Given the description of an element on the screen output the (x, y) to click on. 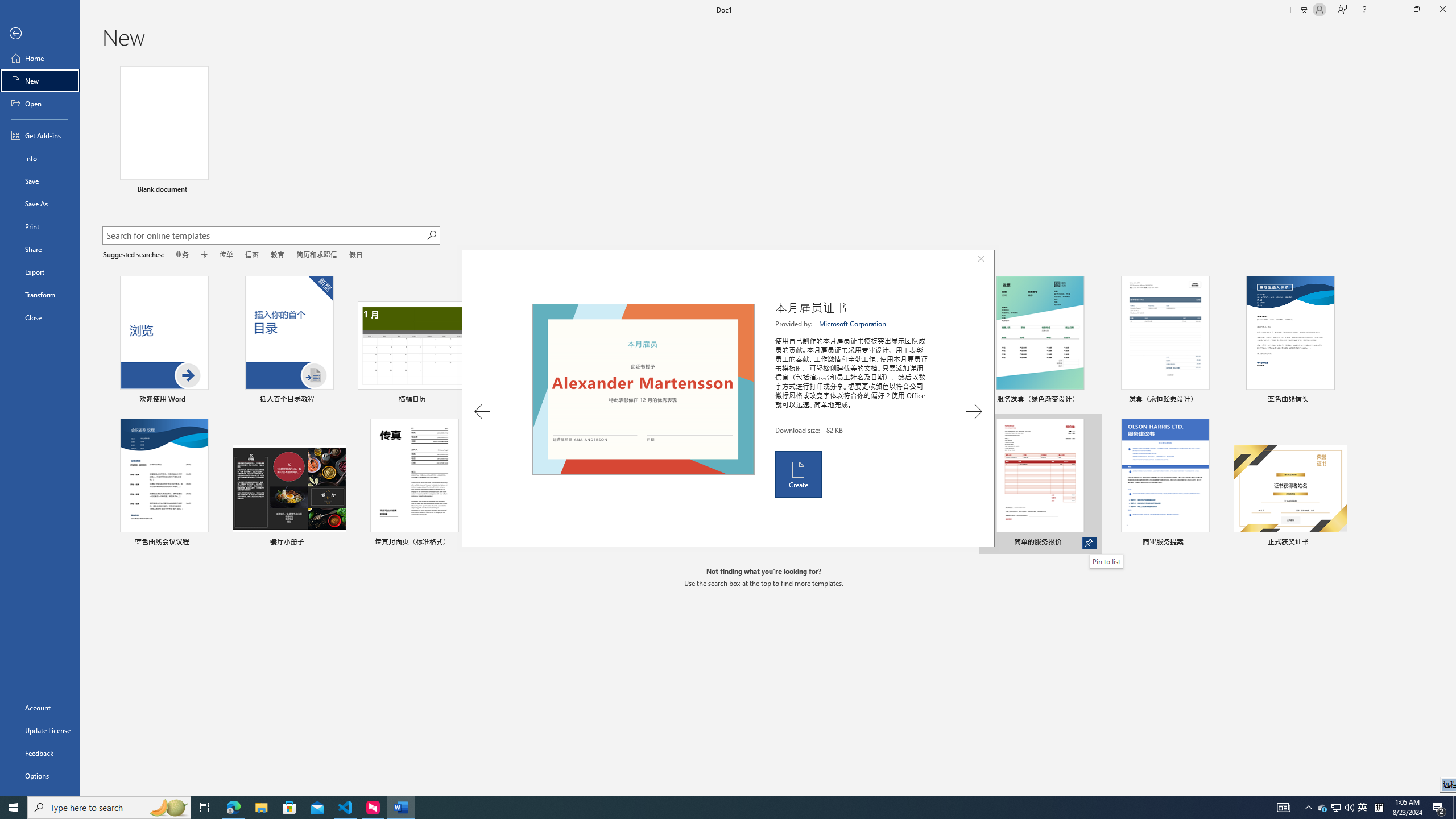
Back (40, 33)
Account (40, 707)
Start searching (431, 235)
Blank document (164, 131)
Get Add-ins (40, 134)
